Given the description of an element on the screen output the (x, y) to click on. 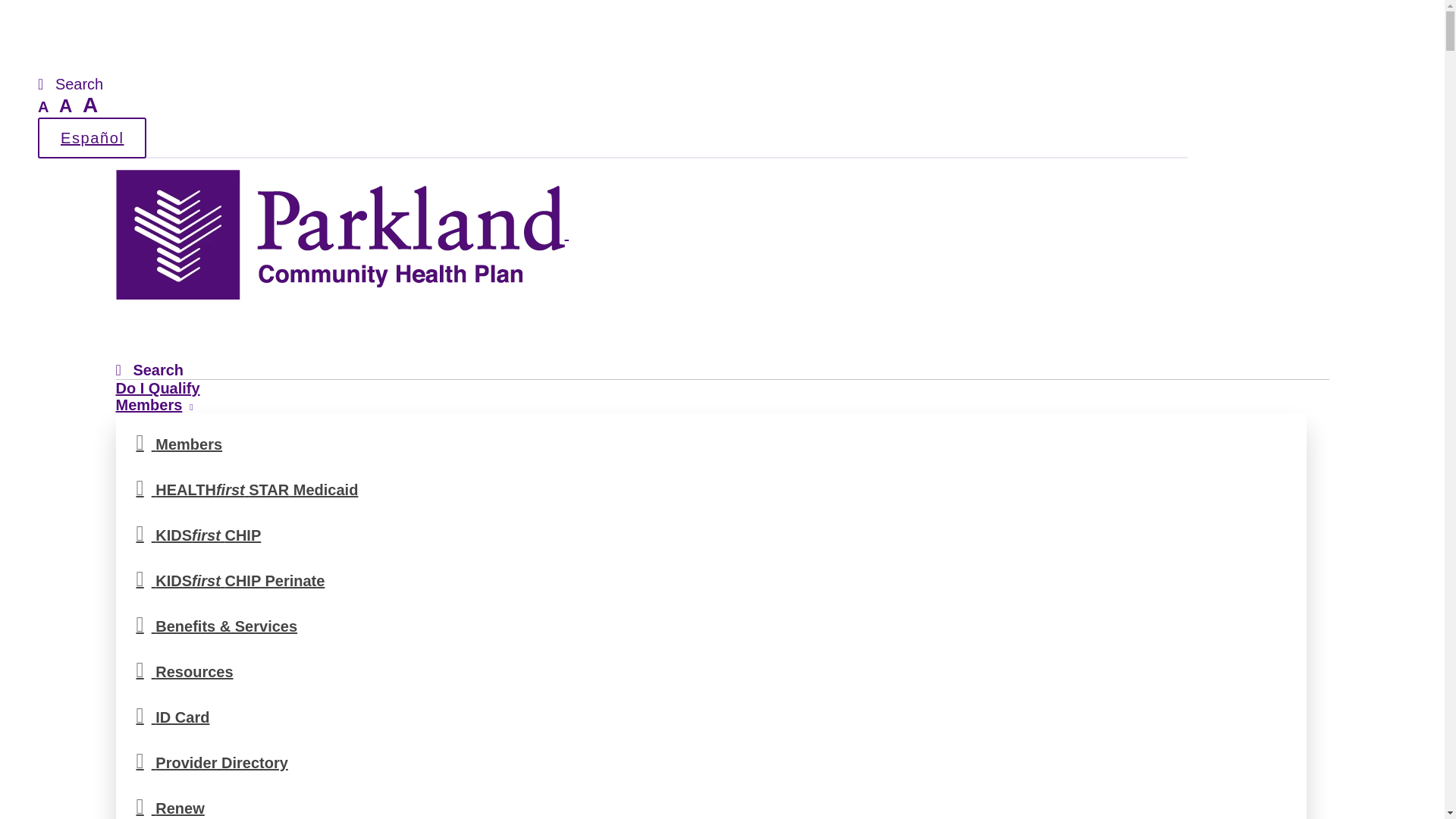
Members (711, 443)
KIDSfirst CHIP Perinate (711, 578)
KIDSfirst CHIP (711, 533)
Search (70, 84)
Provider Directory (711, 760)
ID Card (711, 715)
Do I Qualify (157, 387)
Resources (711, 669)
Search (149, 370)
HEALTHfirst STAR Medicaid (711, 488)
